Given the description of an element on the screen output the (x, y) to click on. 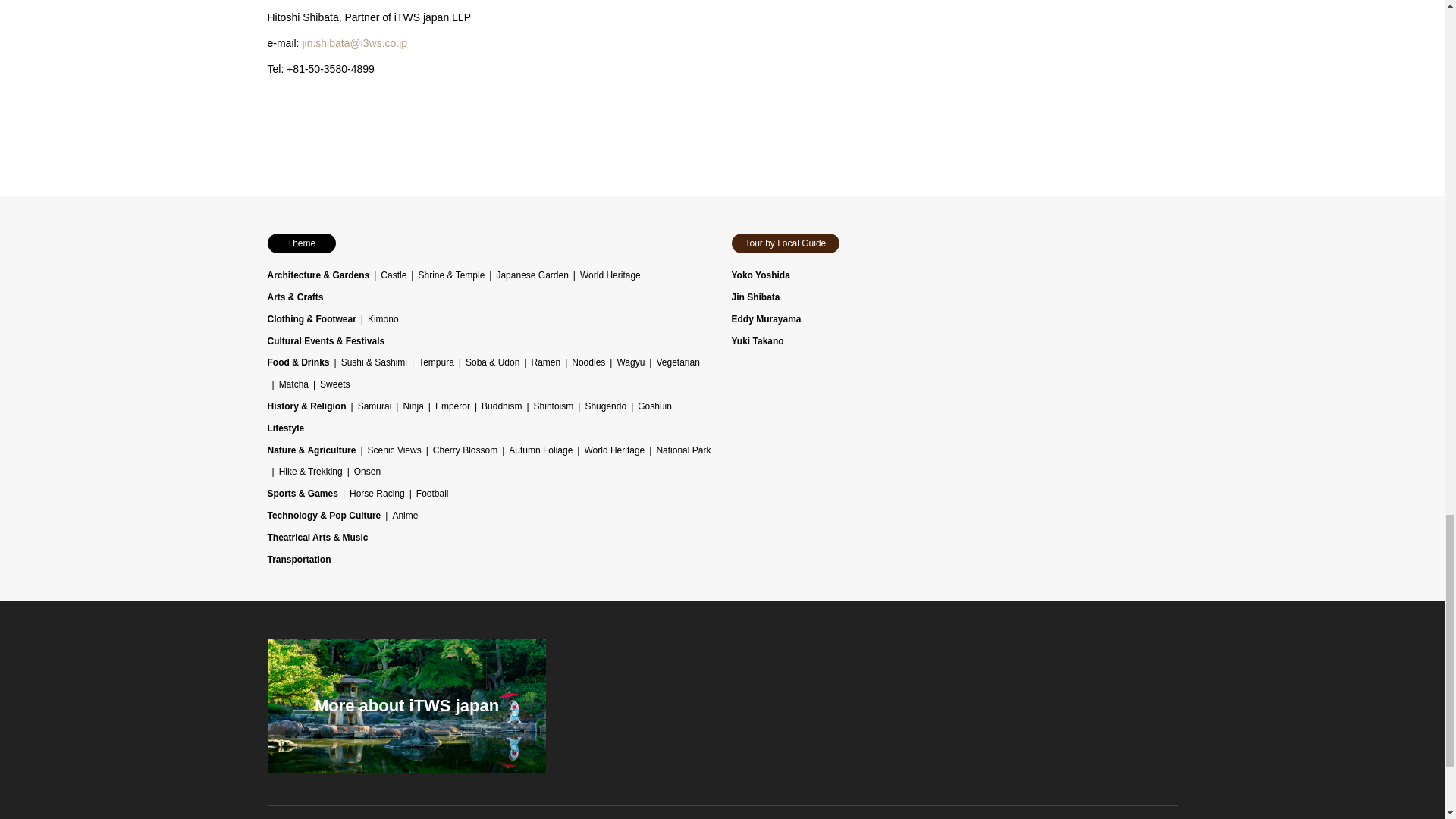
Ninja (413, 406)
Lifestyle (285, 428)
Japanese Garden (531, 275)
Vegetarian (677, 362)
Shintoism (553, 406)
World Heritage (609, 275)
Emperor (452, 406)
Castle (393, 275)
Matcha (293, 384)
Noodles (588, 362)
